Given the description of an element on the screen output the (x, y) to click on. 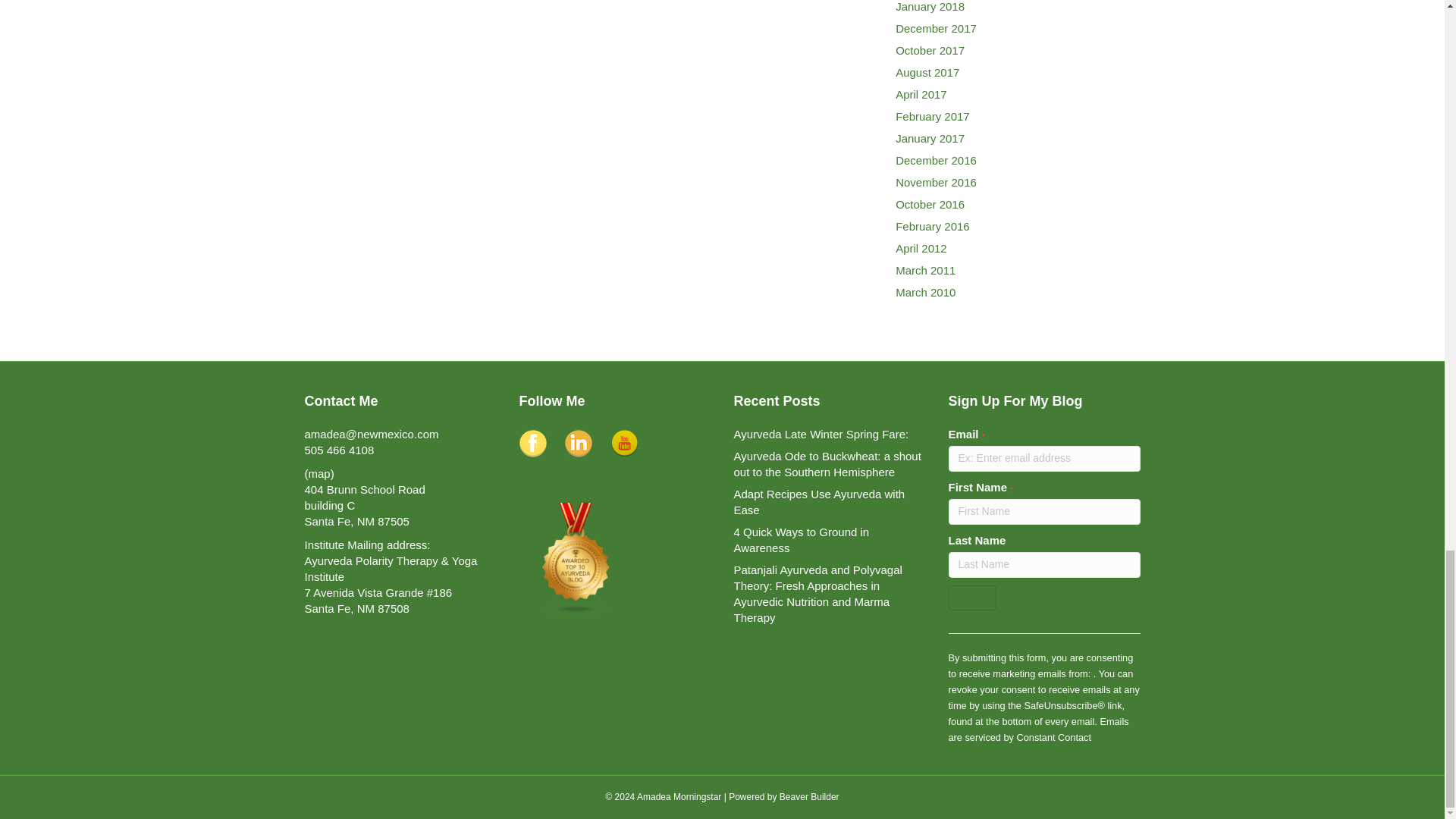
Ayurveda blogs (574, 558)
WordPress Page Builder Plugin (809, 796)
Send (971, 597)
